Given the description of an element on the screen output the (x, y) to click on. 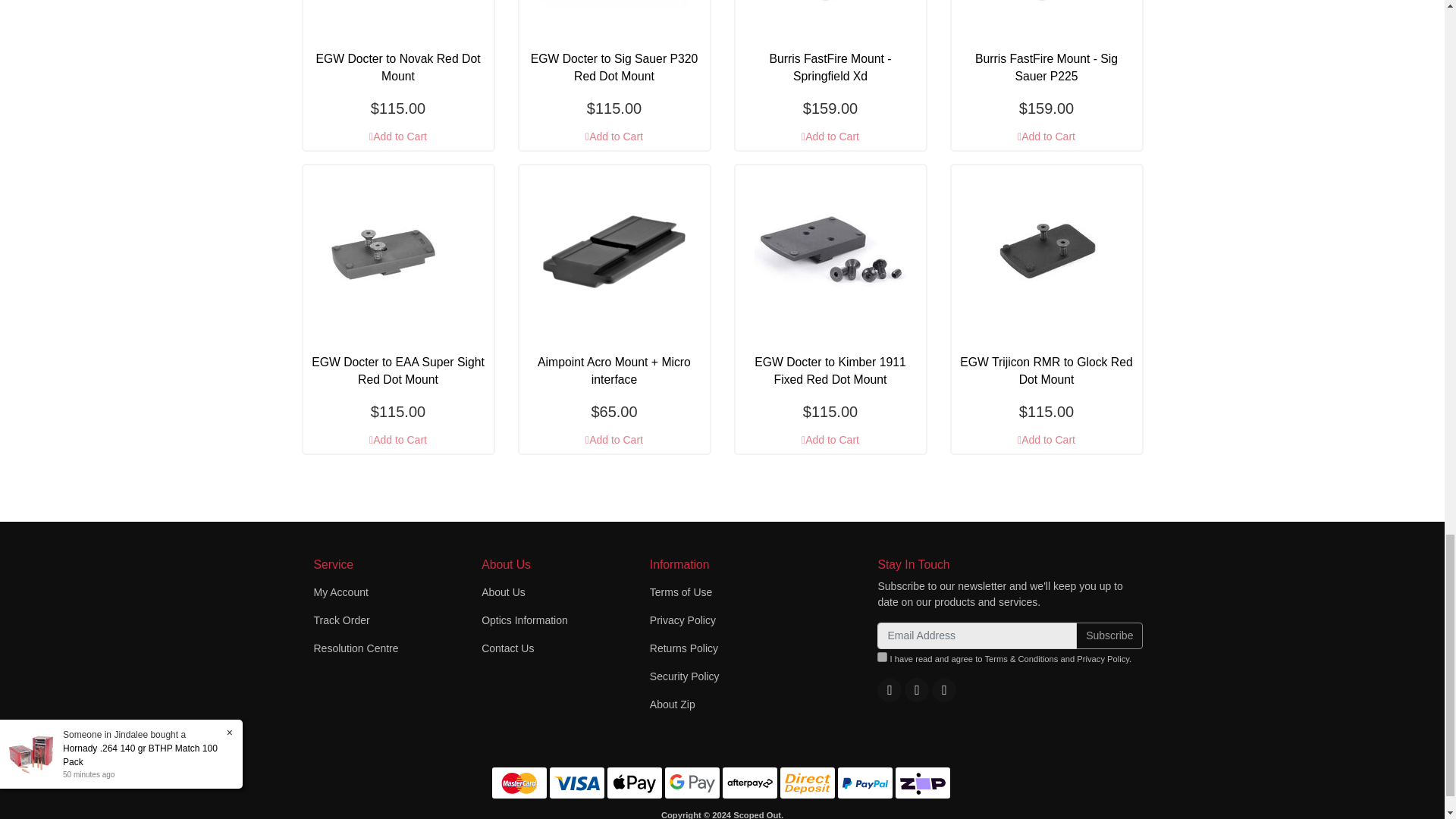
Add Burris FastFire Mount - Springfield Xd to Cart (830, 136)
Add EGW Docter to Sig Sauer P320  Red Dot Mount to Cart (613, 136)
y (881, 656)
Add EGW Docter to Novak  Red Dot Mount to Cart (397, 136)
Add Burris FastFire Mount - Sig Sauer P225 to Cart (1045, 136)
Scoped Out on Facebook (889, 688)
Add EGW Trijicon RMR to Glock  Red Dot Mount to Cart (1045, 439)
Add EGW Docter to EAA Super Sight  Red Dot Mount to Cart (397, 439)
Add EGW Docter to Kimber 1911 Fixed  Red Dot Mount to Cart (830, 439)
Scoped Out on Instagram (943, 688)
Scoped Out on Youtube (916, 688)
Subscribe (1108, 635)
